Given the description of an element on the screen output the (x, y) to click on. 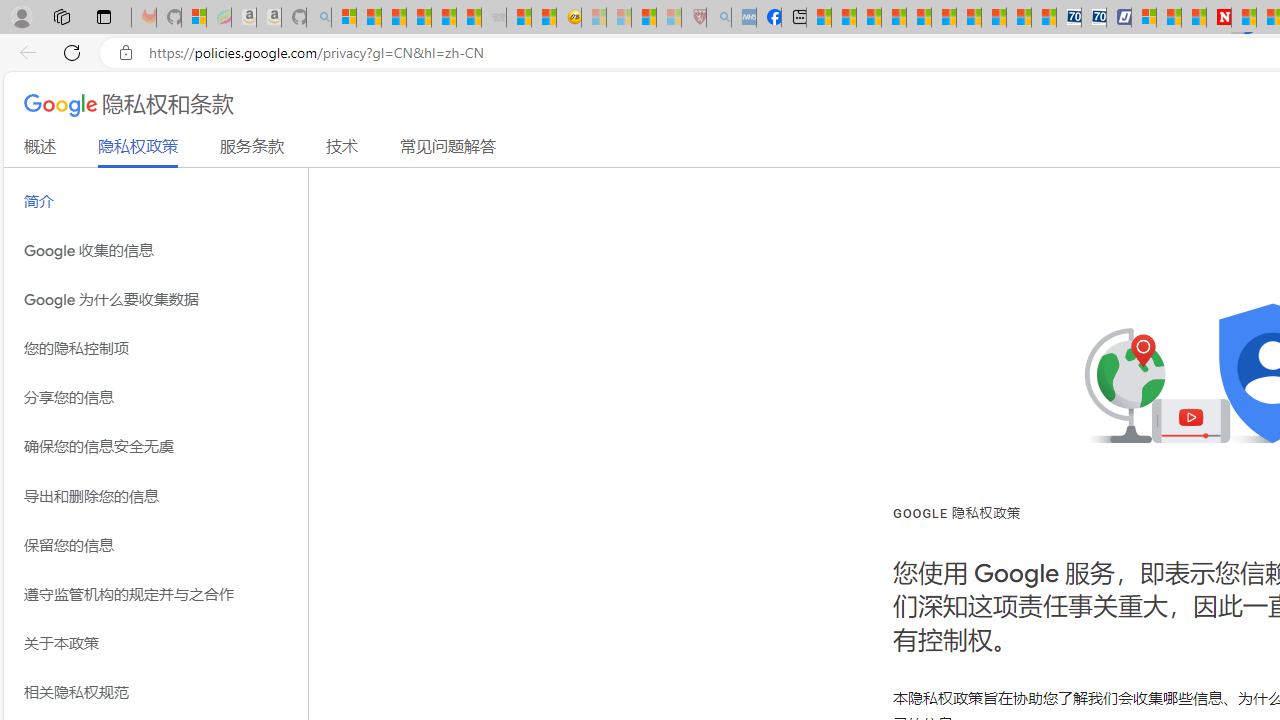
Climate Damage Becomes Too Severe To Reverse (893, 17)
